Given the description of an element on the screen output the (x, y) to click on. 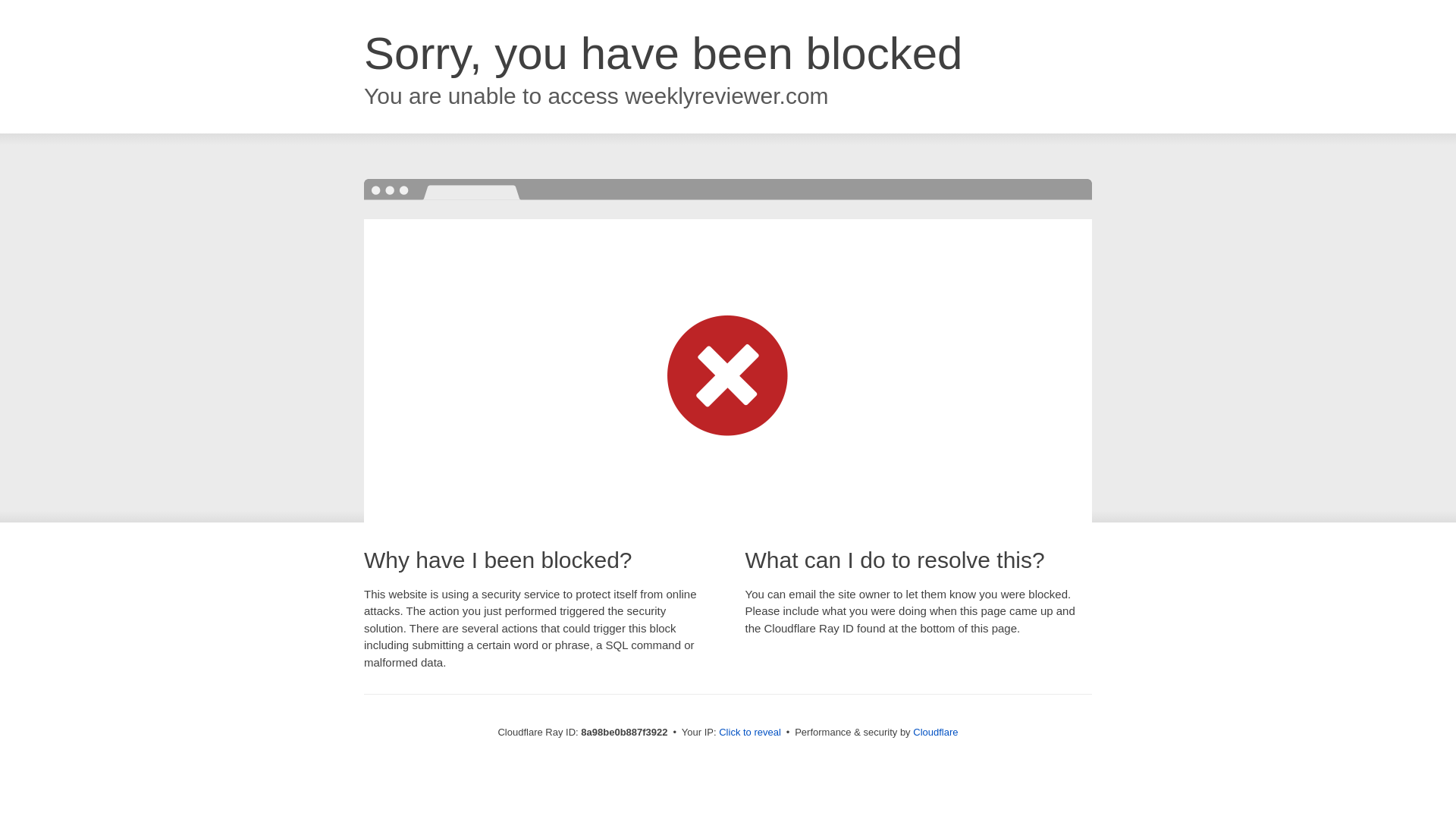
Cloudflare (935, 731)
Click to reveal (749, 732)
